Given the description of an element on the screen output the (x, y) to click on. 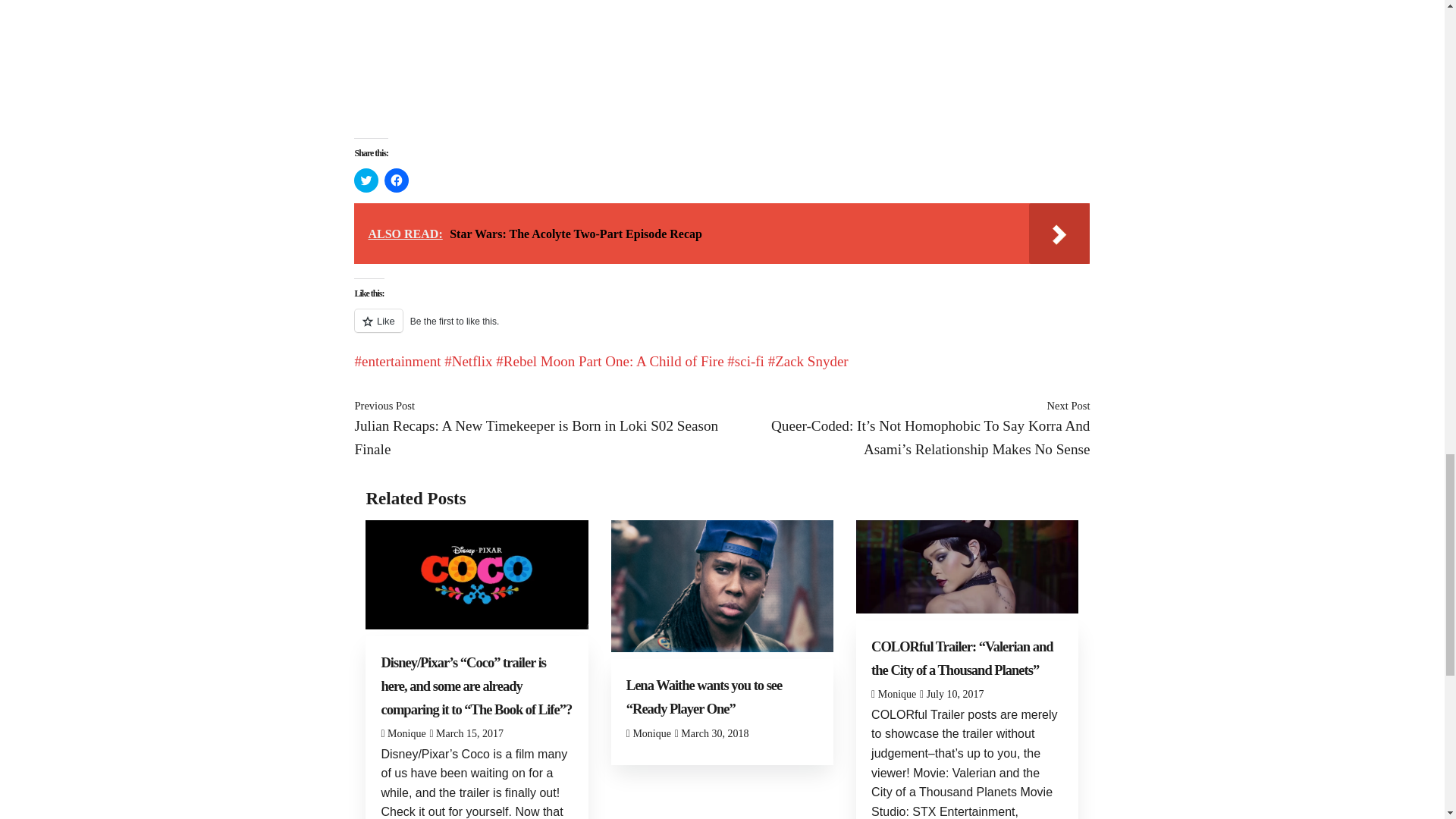
Like or Reblog (721, 329)
Click to share on Facebook (396, 180)
Click to share on Twitter (365, 180)
